Given the description of an element on the screen output the (x, y) to click on. 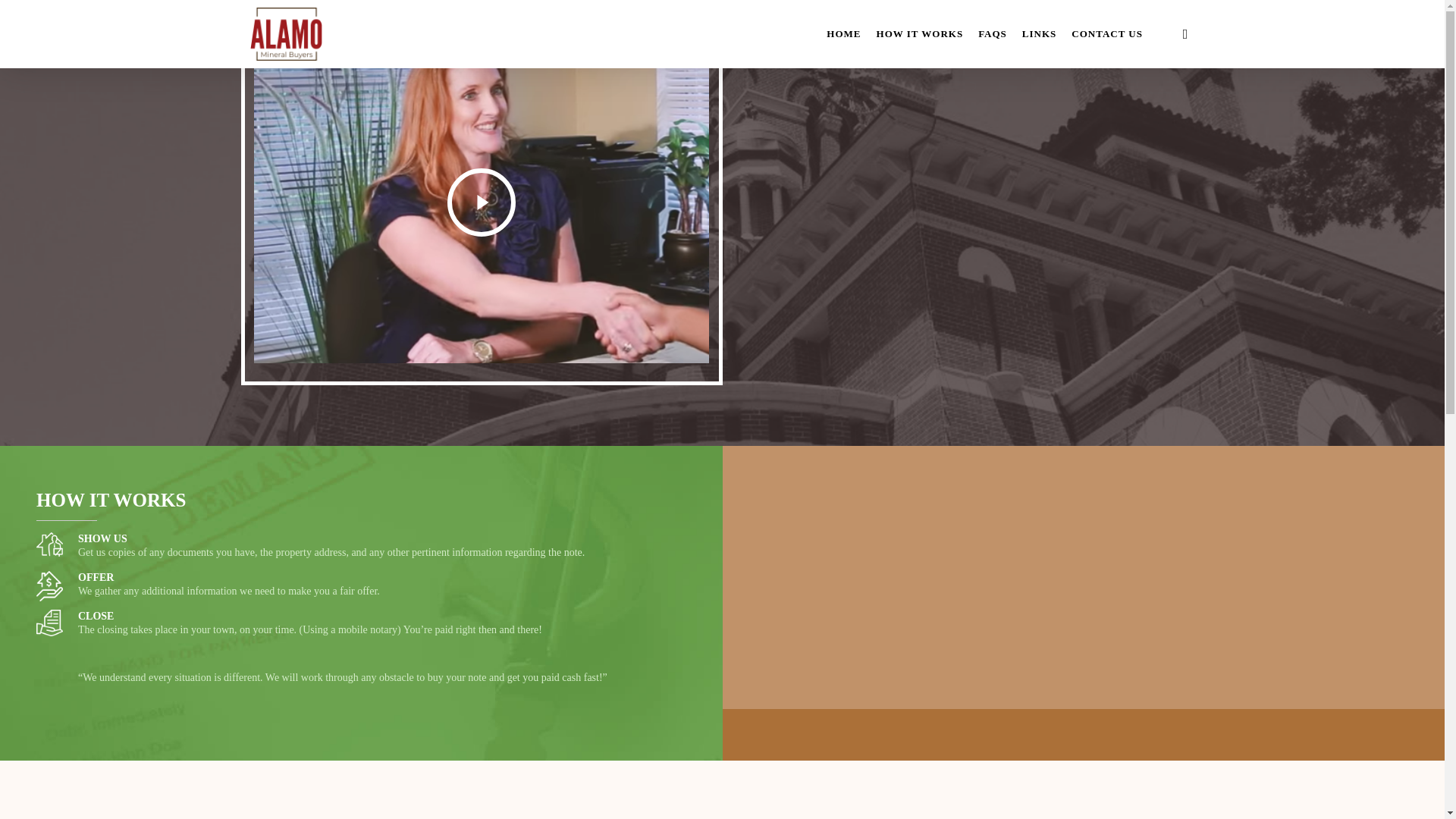
HOW IT WORKS (920, 33)
FAQS (992, 33)
Play Video (480, 202)
HOME (842, 33)
search (1184, 33)
LINKS (1039, 33)
CONTACT US (1107, 33)
